Given the description of an element on the screen output the (x, y) to click on. 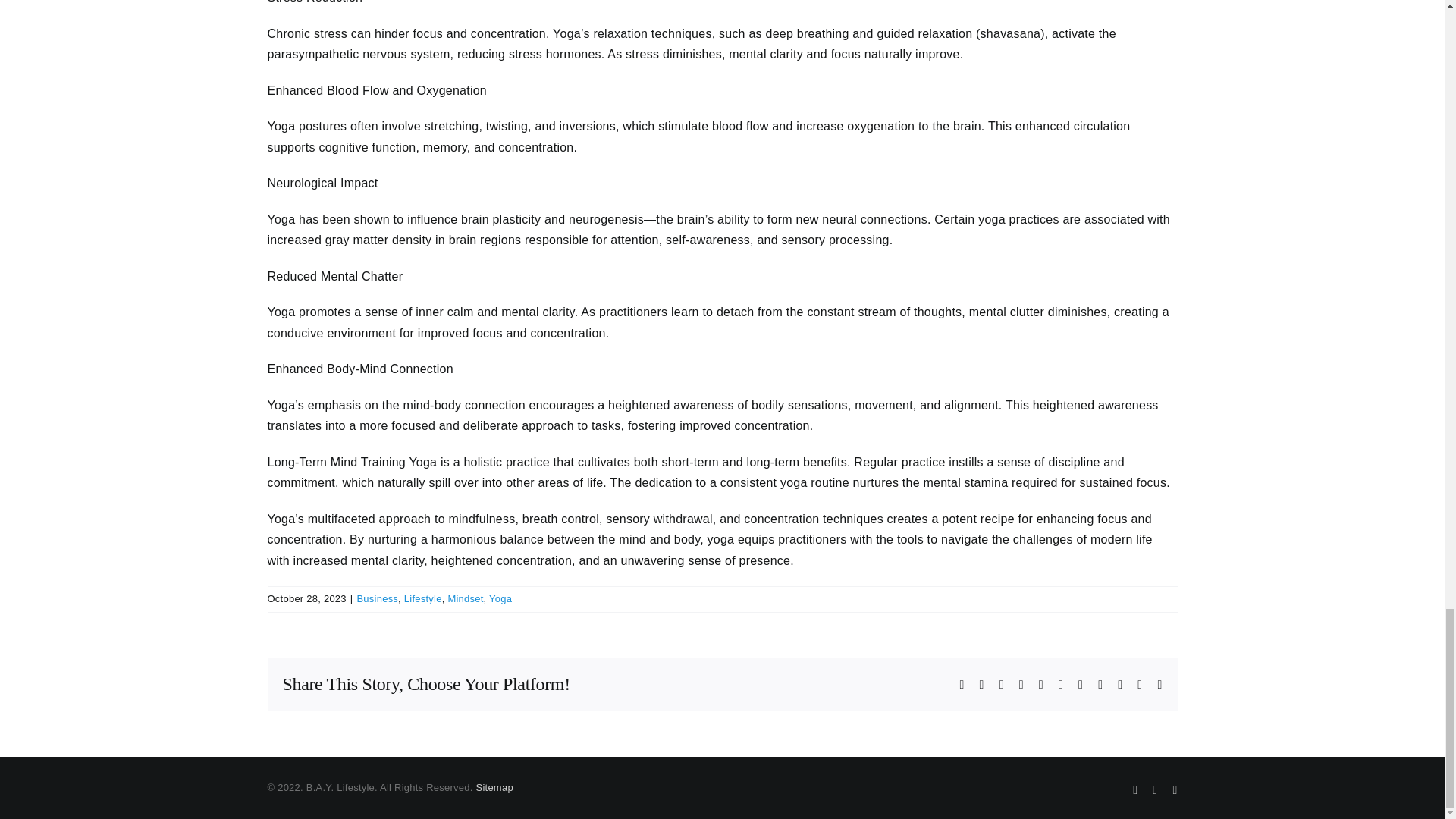
Lifestyle (423, 598)
Yoga (500, 598)
Sitemap (494, 787)
Mindset (464, 598)
Business (376, 598)
